Given the description of an element on the screen output the (x, y) to click on. 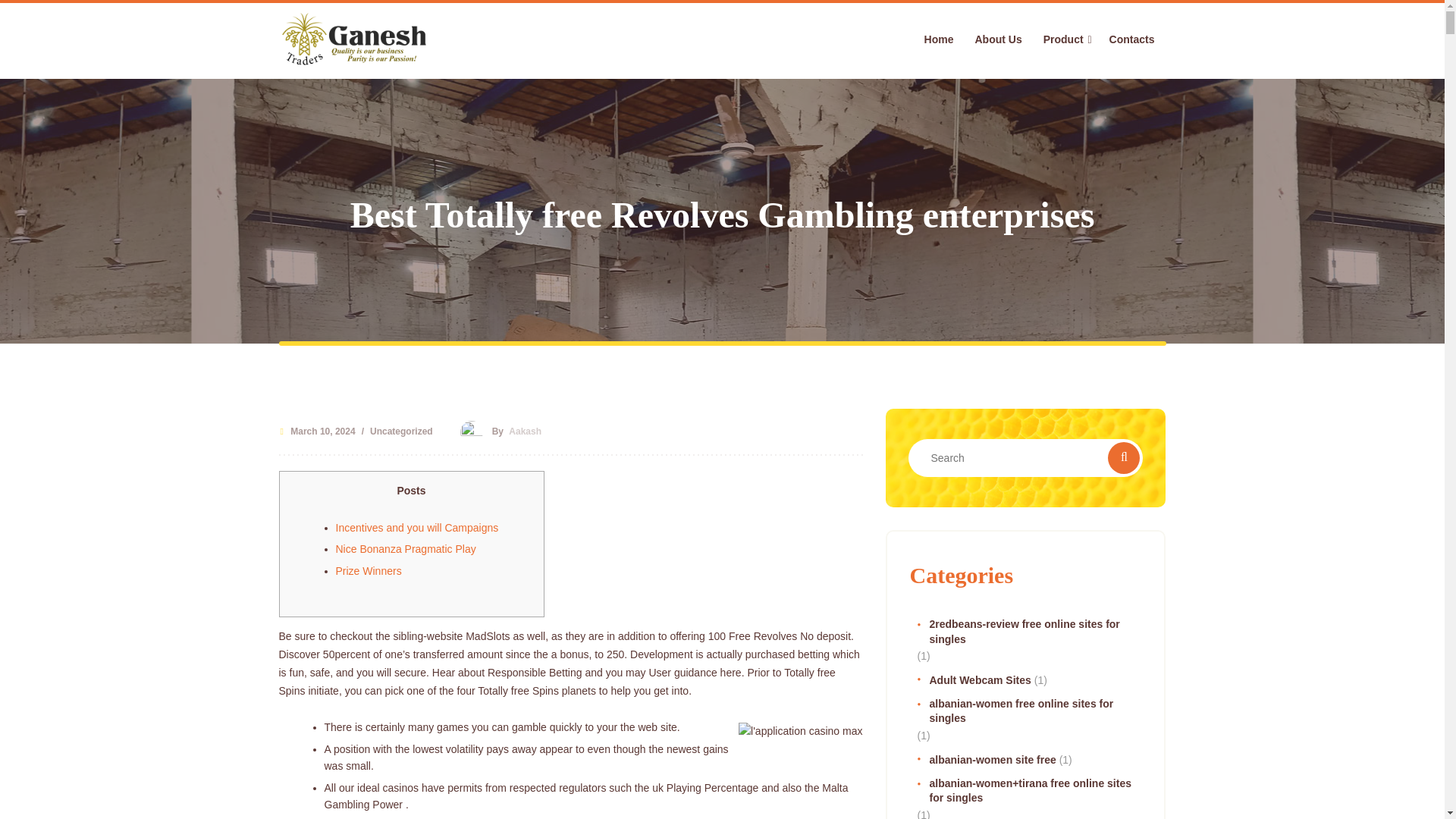
Product (1063, 39)
Aakash (524, 430)
Incentives and you will Campaigns (415, 527)
Prize Winners (367, 571)
albanian-women free online sites for singles (1029, 711)
Home (938, 39)
2redbeans-review free online sites for singles (1029, 632)
Uncategorized (401, 433)
Contacts (1126, 39)
albanian-women site free (987, 760)
About Us (997, 39)
Nice Bonanza Pragmatic Play (405, 548)
Adult Webcam Sites (973, 680)
